Given the description of an element on the screen output the (x, y) to click on. 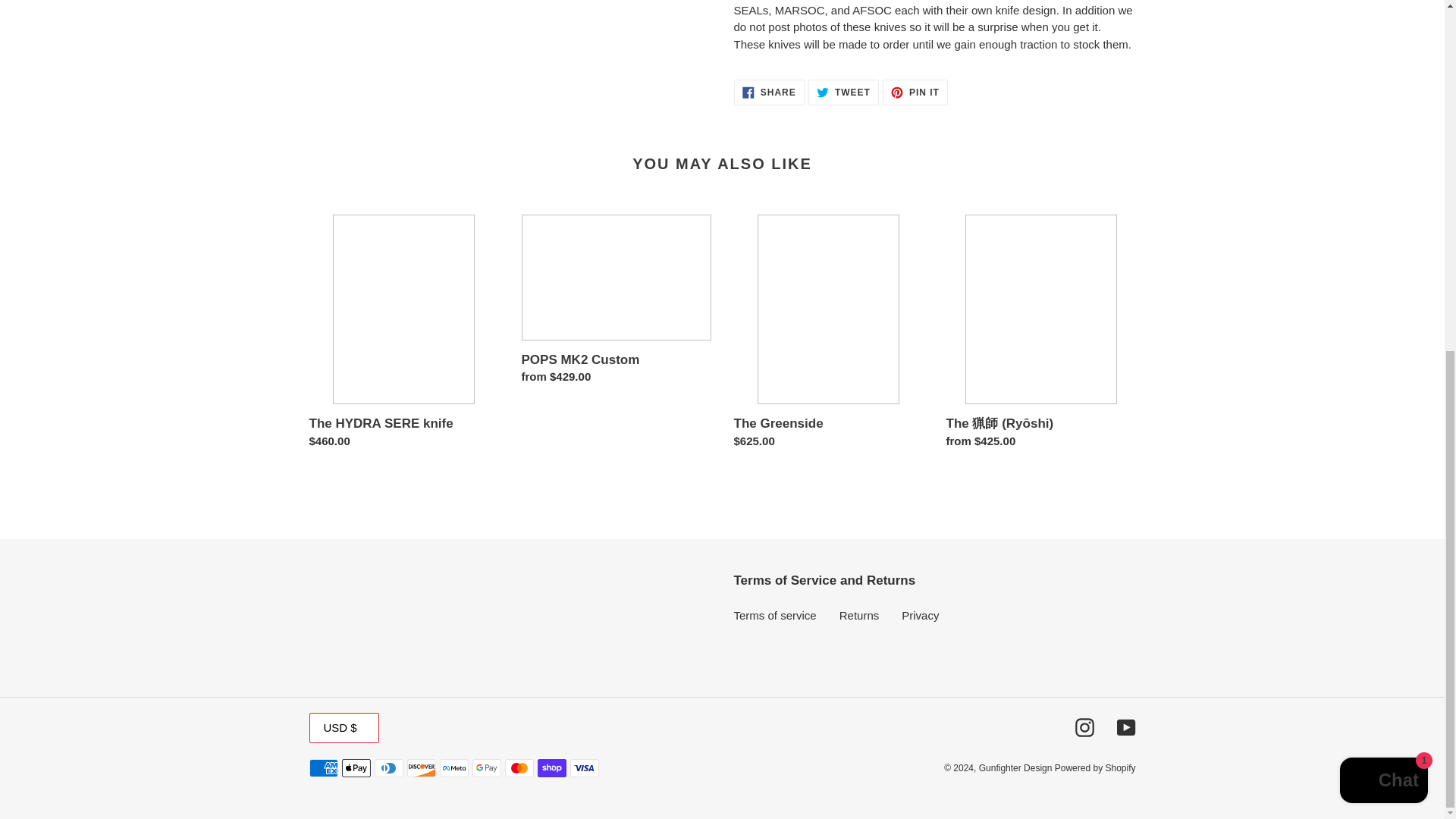
Returns (859, 615)
Powered by Shopify (914, 92)
Instagram (1094, 767)
The Greenside (1084, 727)
POPS MK2 Custom (828, 334)
YouTube (616, 303)
Privacy (1125, 727)
Shopify online store chat (769, 92)
Gunfighter Design (920, 615)
Terms of service (1383, 173)
The HYDRA SERE knife (1016, 767)
